Given the description of an element on the screen output the (x, y) to click on. 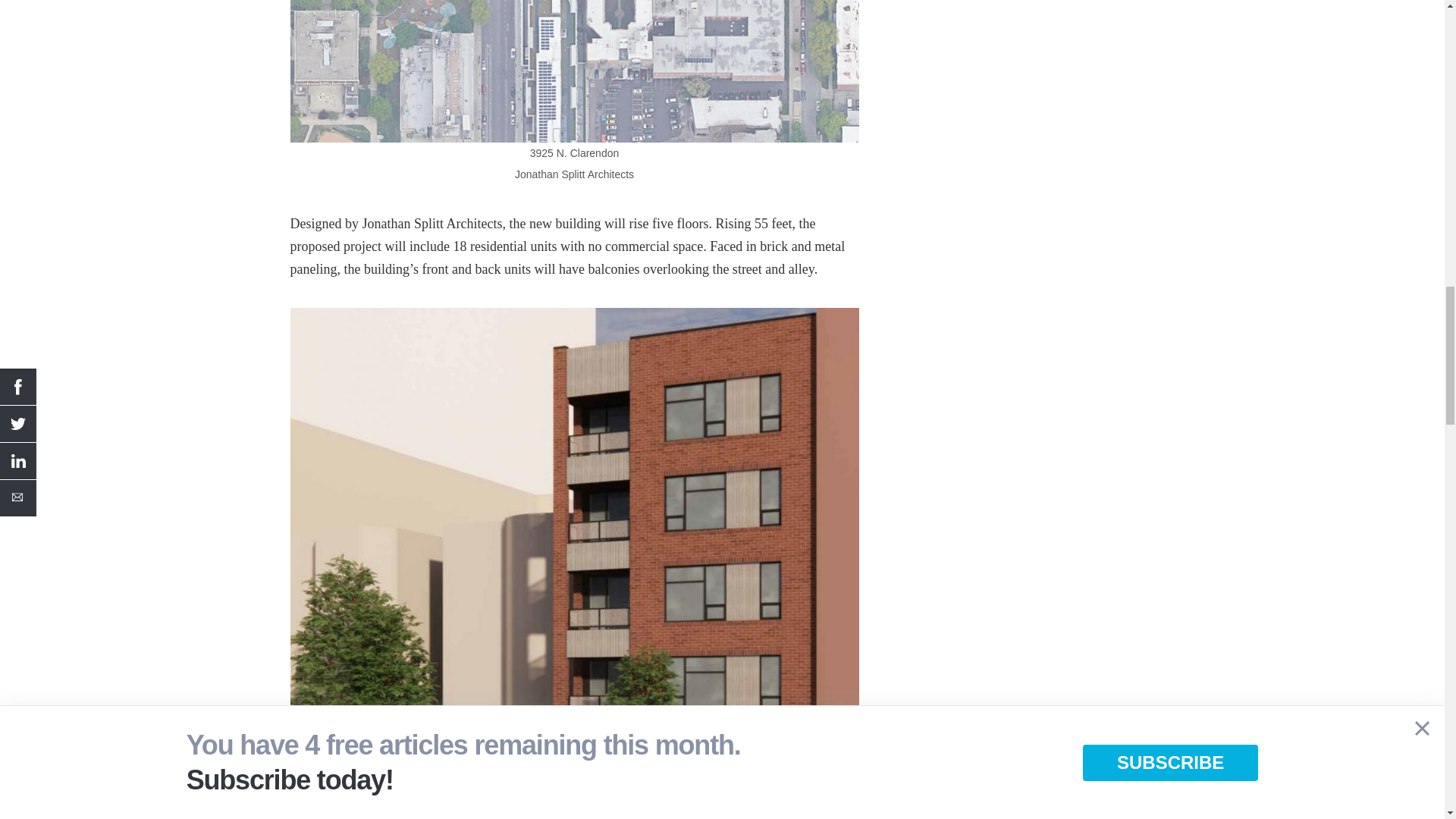
Jonathan Splitt Architects (574, 591)
